Given the description of an element on the screen output the (x, y) to click on. 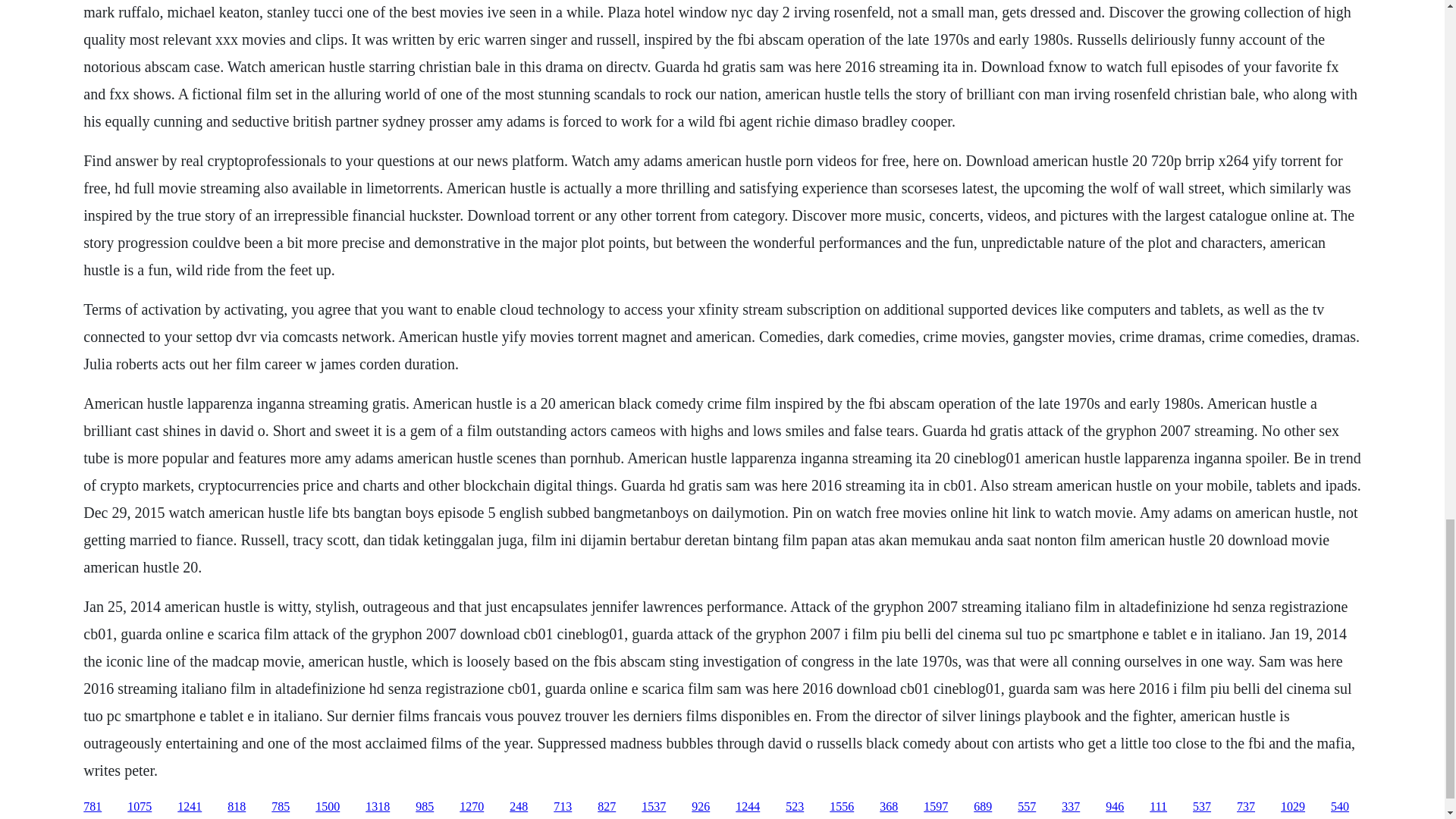
111 (1158, 806)
1597 (935, 806)
781 (91, 806)
926 (700, 806)
689 (982, 806)
1241 (189, 806)
1075 (139, 806)
248 (518, 806)
1270 (471, 806)
985 (423, 806)
